Given the description of an element on the screen output the (x, y) to click on. 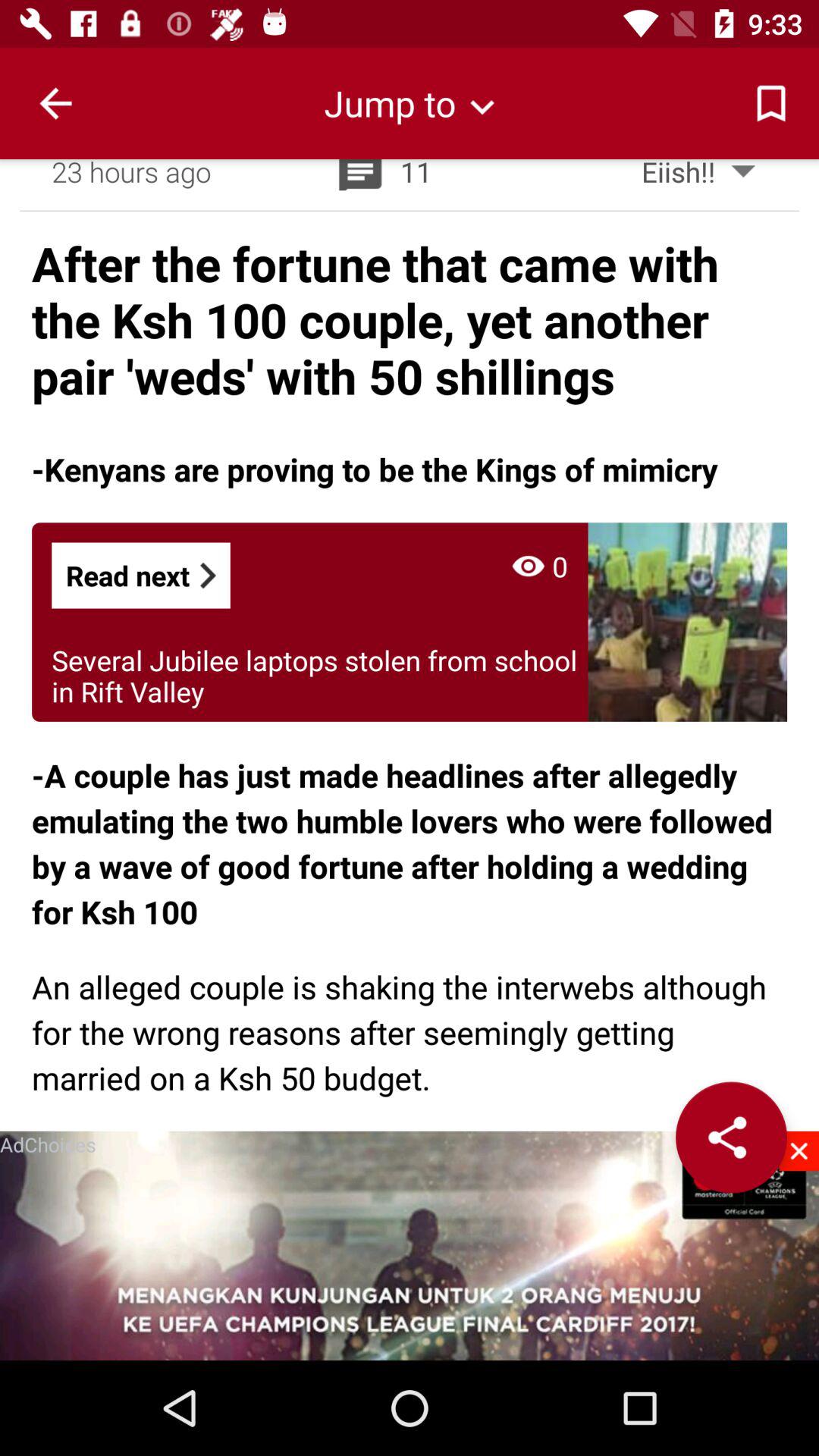
turn off the item above the 23 hours ago item (409, 103)
